Given the description of an element on the screen output the (x, y) to click on. 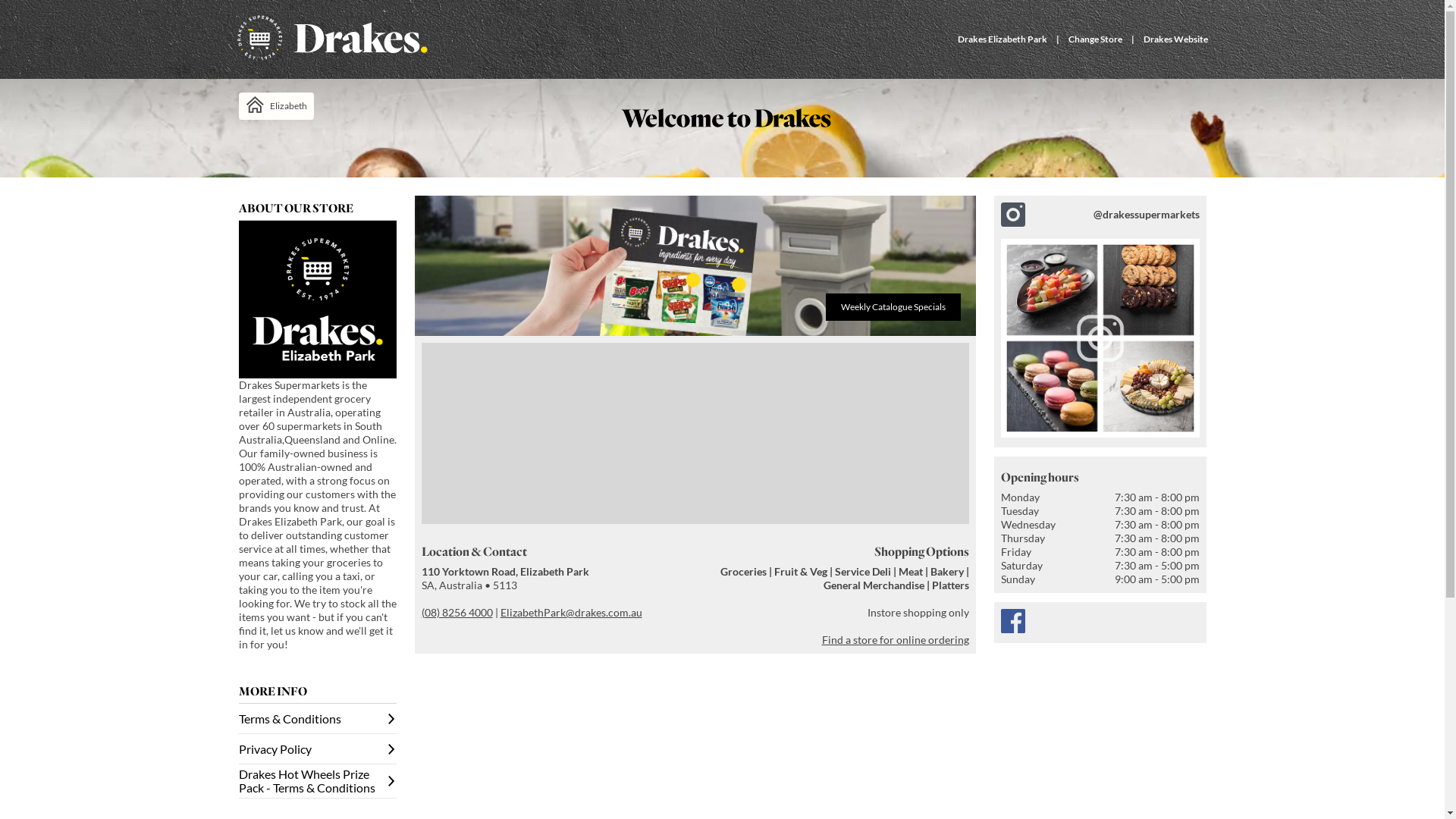
Drakes Hot Wheels Prize Pack - Terms & Conditions Element type: text (316, 781)
Elizabeth Element type: text (275, 105)
Privacy Policy Element type: text (316, 749)
ElizabethPark@drakes.com.au Element type: text (571, 611)
Find a store for online ordering Element type: text (895, 639)
Drakes Website Element type: text (1175, 38)
(08) 8256 4000 Element type: text (456, 611)
@drakessupermarkets Element type: text (1099, 321)
Terms & Conditions Element type: text (316, 718)
Change Store Element type: text (1094, 38)
Weekly Catalogue Specials Element type: text (694, 265)
